Given the description of an element on the screen output the (x, y) to click on. 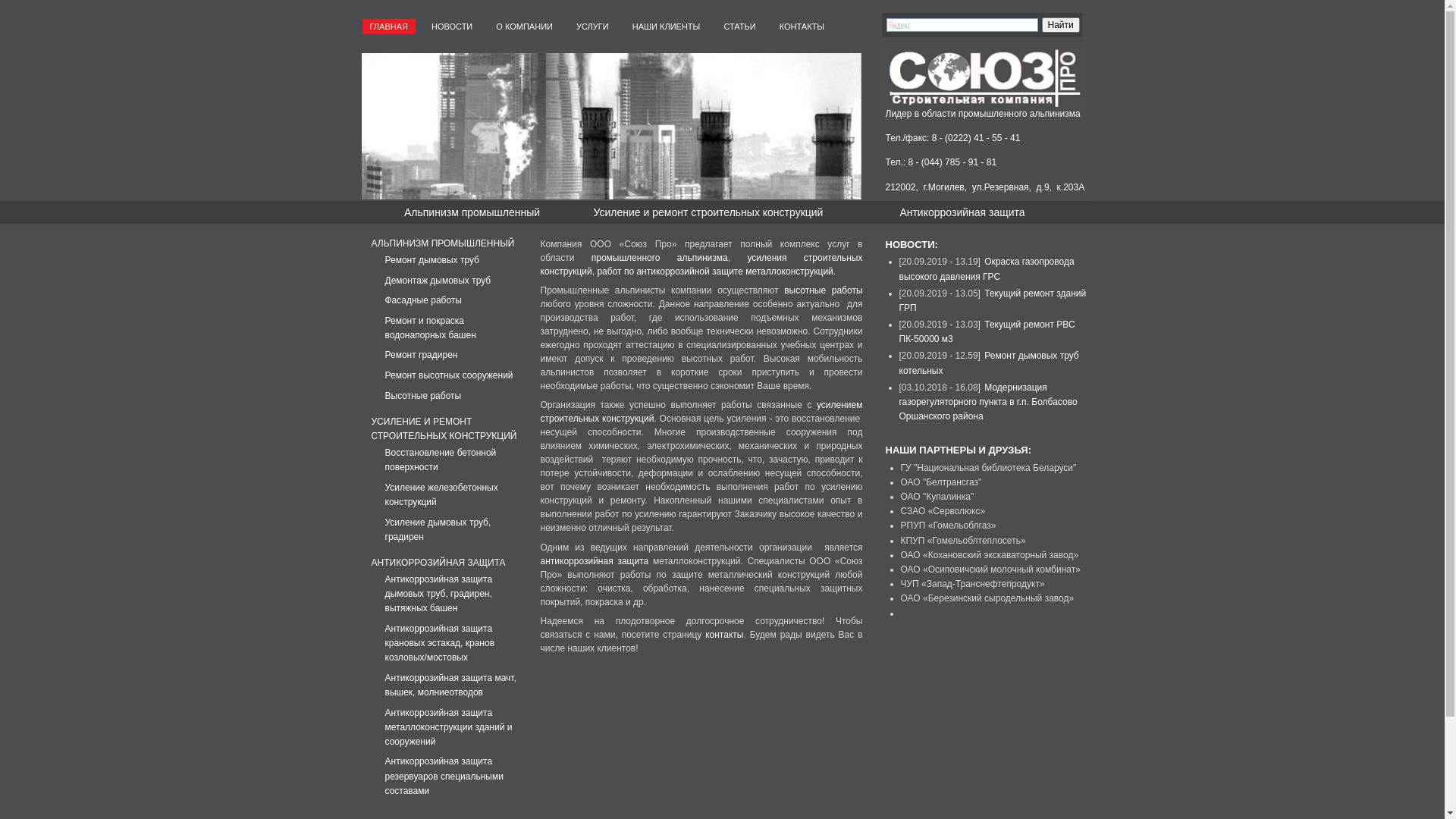
     Element type: text (1028, 26)
     Element type: text (1046, 23)
